Given the description of an element on the screen output the (x, y) to click on. 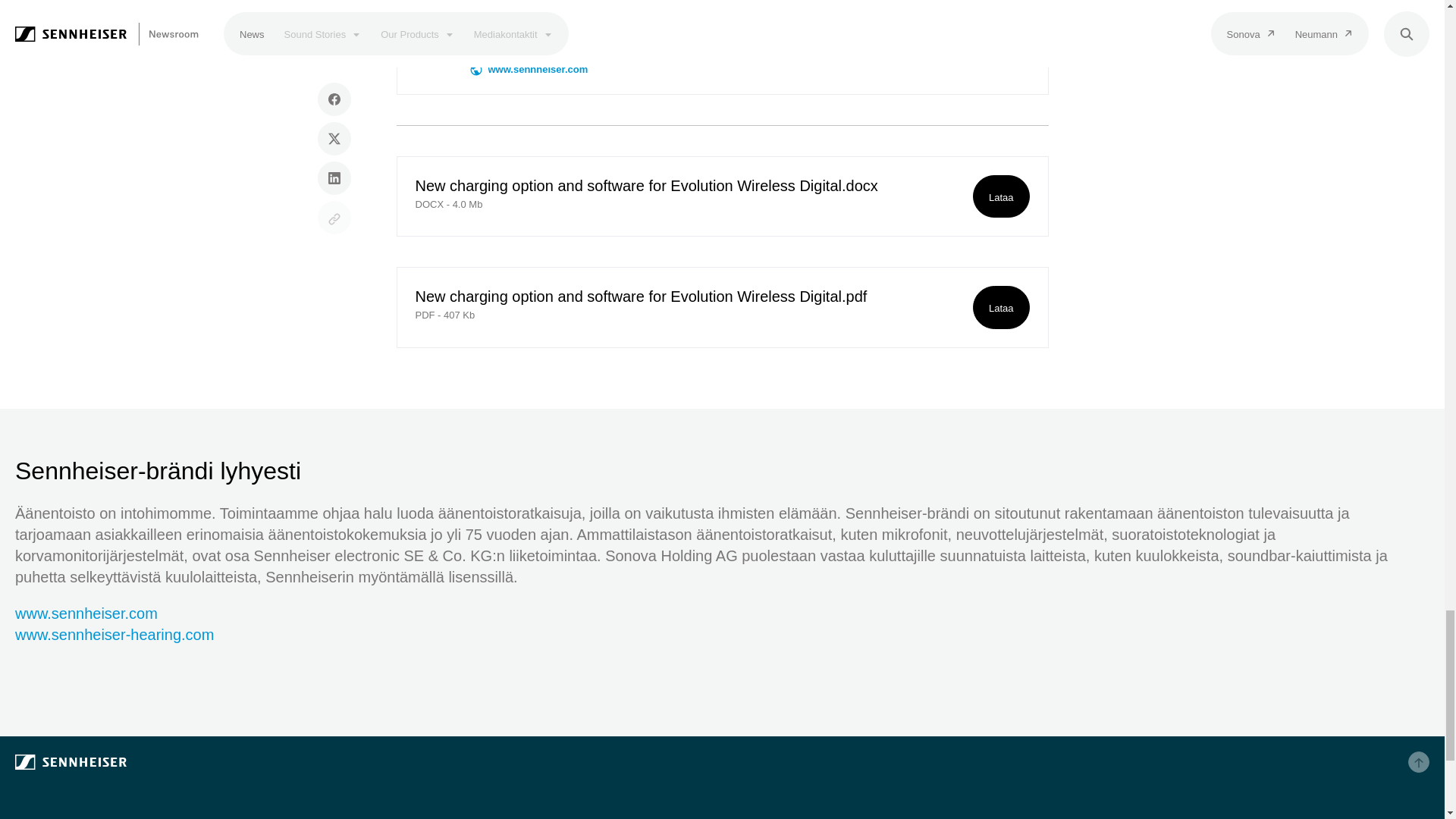
www.sennheiser.com (529, 69)
www.sennheiser-hearing.com (114, 634)
Stephanie Schmidt (437, 18)
www.sennheiser.com (529, 69)
Sennheiser (250, 761)
www.sennheiser.com (85, 613)
